Given the description of an element on the screen output the (x, y) to click on. 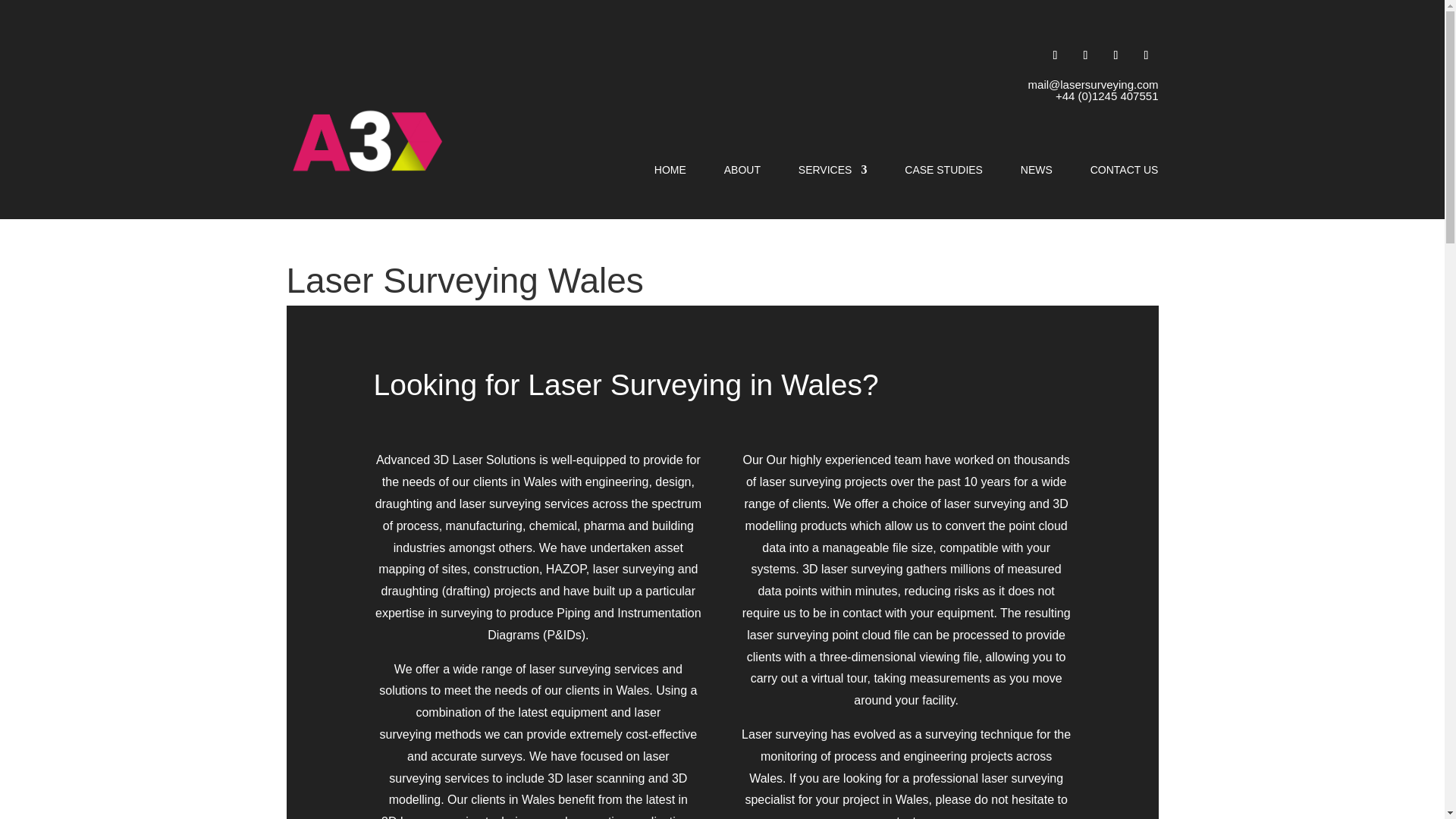
Follow on Youtube (1146, 55)
Follow on LinkedIn (1115, 55)
Follow on Twitter (1085, 55)
A3D-NEG-High.pngwebsite (366, 140)
Follow on Facebook (1055, 55)
